Given the description of an element on the screen output the (x, y) to click on. 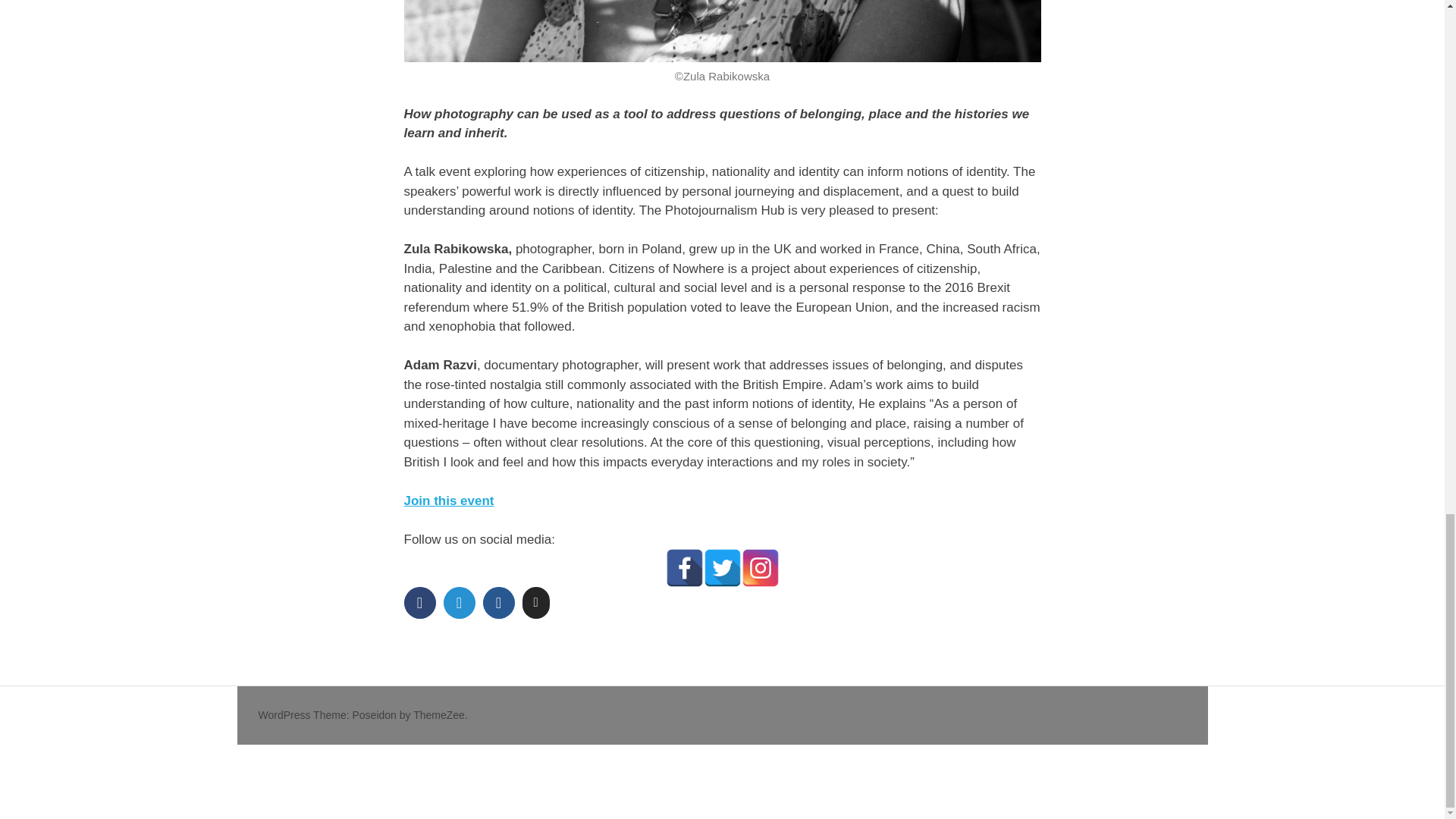
Twitter (722, 567)
Instagram (759, 567)
Facebook (684, 567)
